Given the description of an element on the screen output the (x, y) to click on. 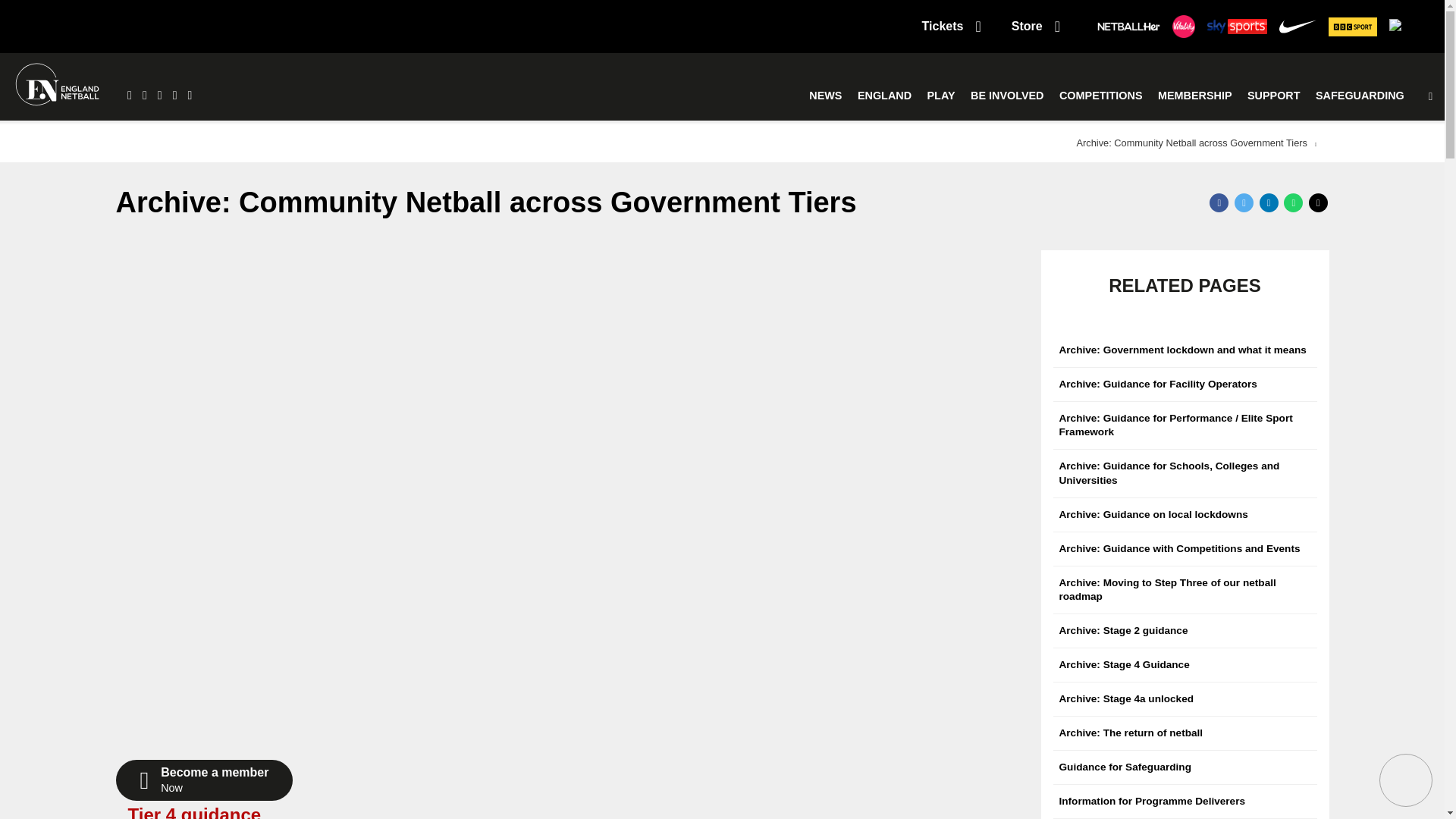
NEWS (825, 95)
NETBALLHer (1128, 26)
England Netball (57, 86)
v-roundel-rgb (1183, 26)
Tickets (951, 25)
Store (1035, 25)
BBC-Sport (1352, 26)
Nike (1297, 25)
PLAY (941, 95)
ENGLAND (884, 95)
Experience-Kissime (1407, 26)
Nike (1297, 26)
Experience Kissime (1407, 25)
Tickets (951, 25)
BBC Sport (1352, 25)
